Given the description of an element on the screen output the (x, y) to click on. 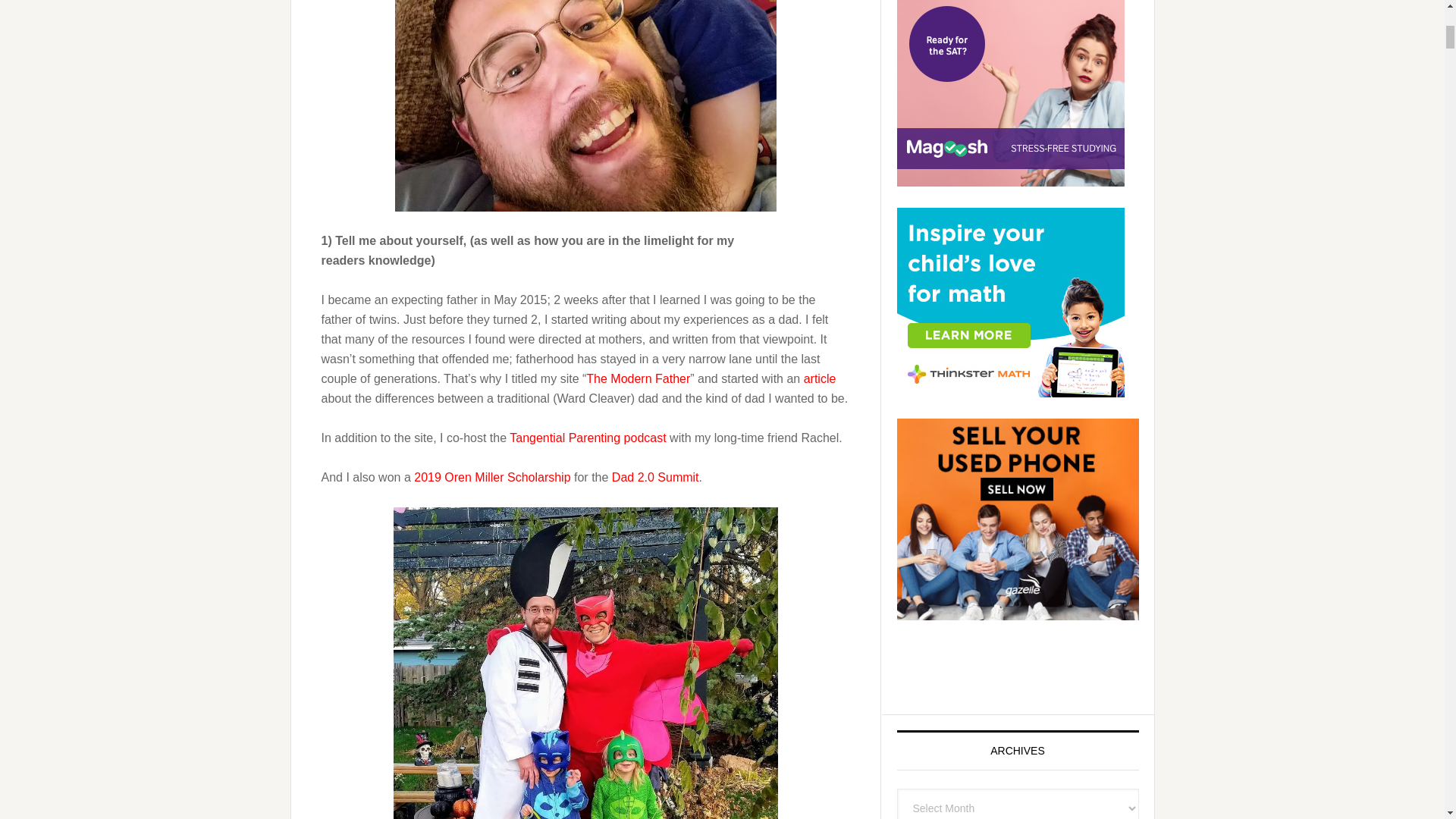
2019 Oren Miller Scholarship (491, 476)
article (819, 377)
The Modern Father (638, 377)
Tangential Parenting podcast (587, 436)
Dad 2.0 Summit (654, 476)
